Given the description of an element on the screen output the (x, y) to click on. 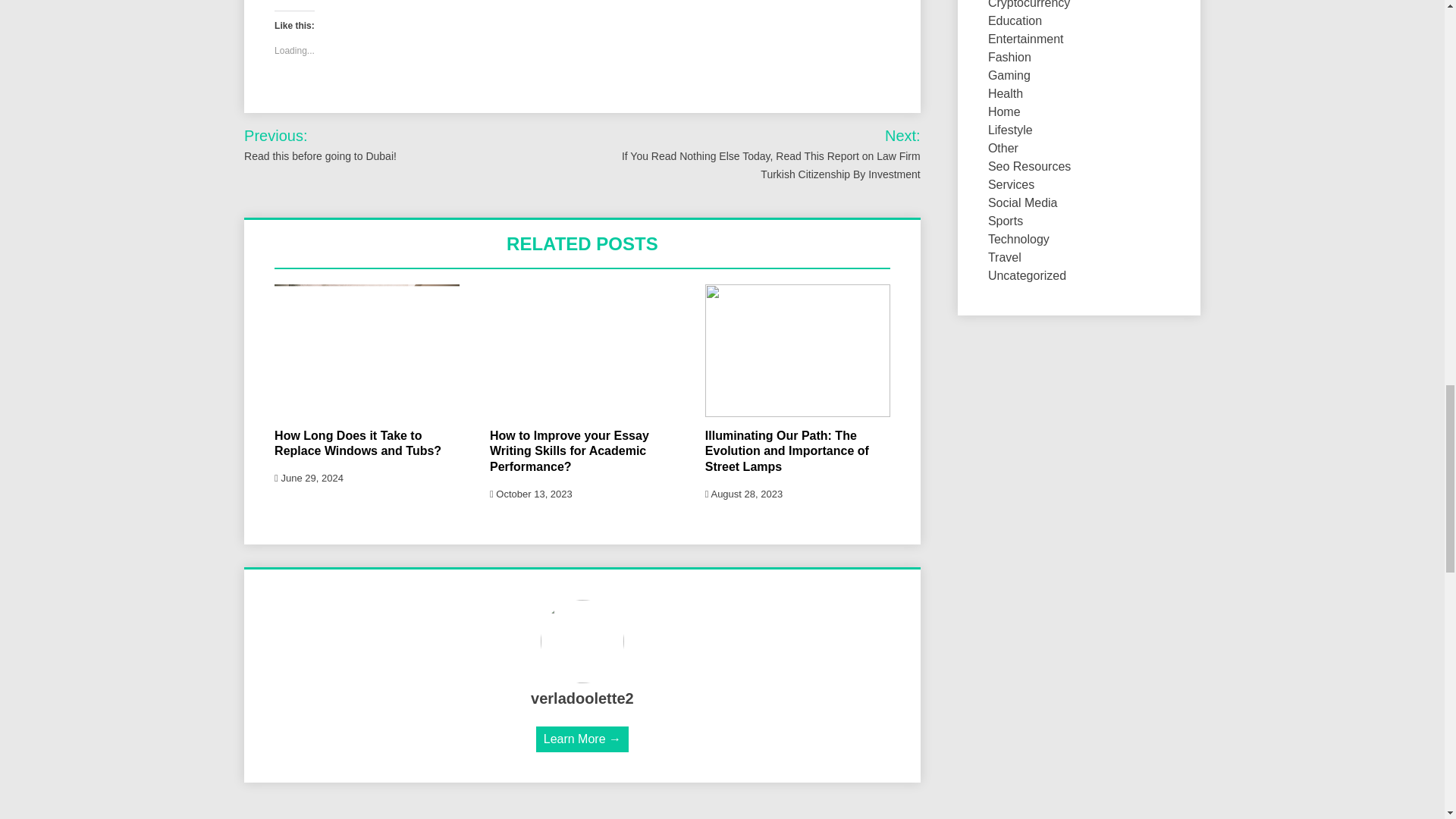
Previous: Read this before going to Dubai! (353, 144)
How Long Does it Take to Replace Windows and Tubs? (358, 443)
